Given the description of an element on the screen output the (x, y) to click on. 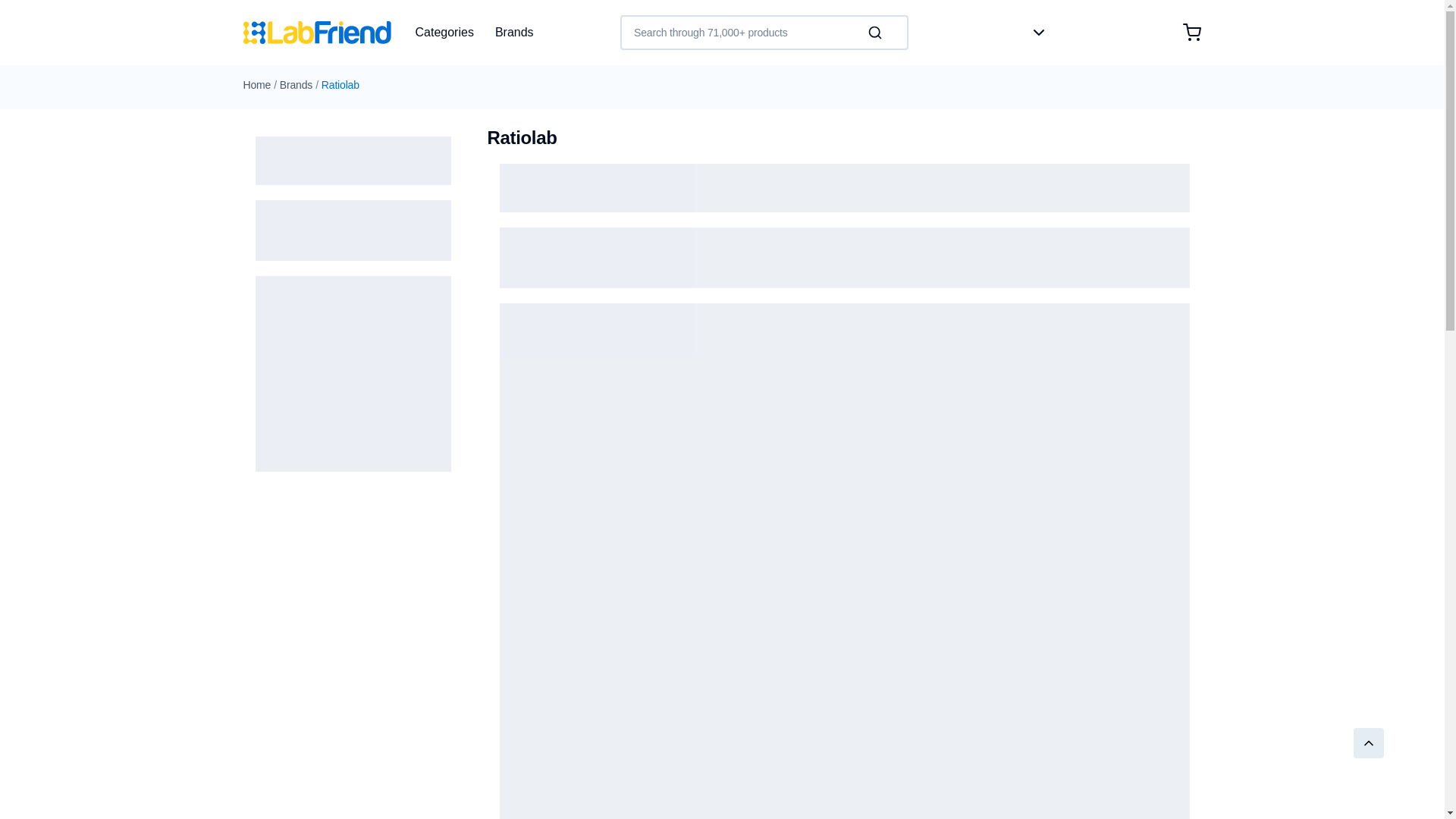
Ratiolab (340, 84)
Brands (296, 84)
Brands (514, 32)
Home (256, 84)
Categories (444, 32)
